Given the description of an element on the screen output the (x, y) to click on. 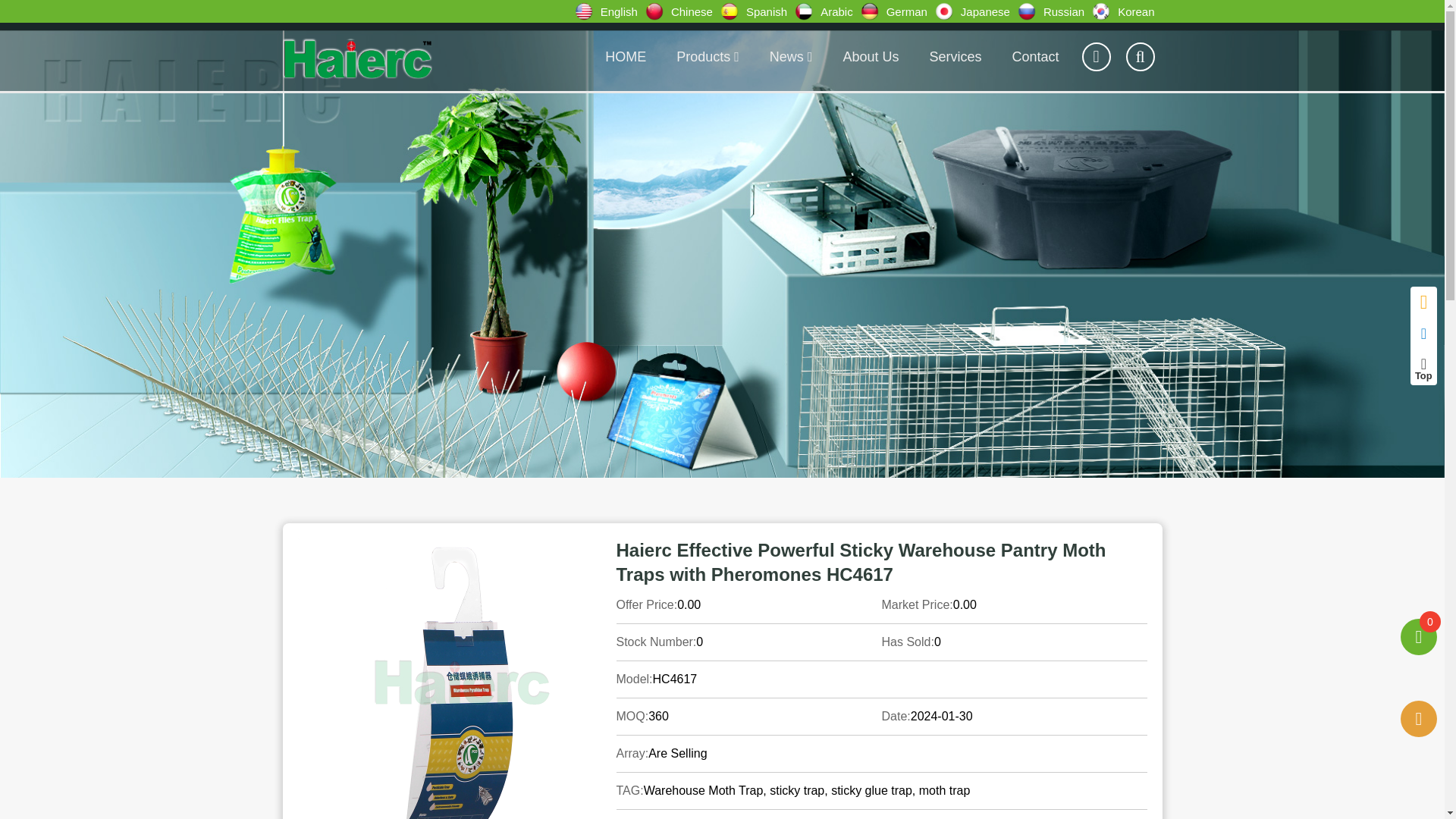
About Us (870, 56)
Russian (1054, 11)
Arabic (827, 11)
HOME (625, 56)
Spanish (757, 11)
Chinese (682, 11)
Products (707, 56)
Japanese (975, 11)
News (791, 56)
Korean (1126, 11)
English (610, 11)
Contact (1034, 56)
German (897, 11)
Services (954, 56)
